Given the description of an element on the screen output the (x, y) to click on. 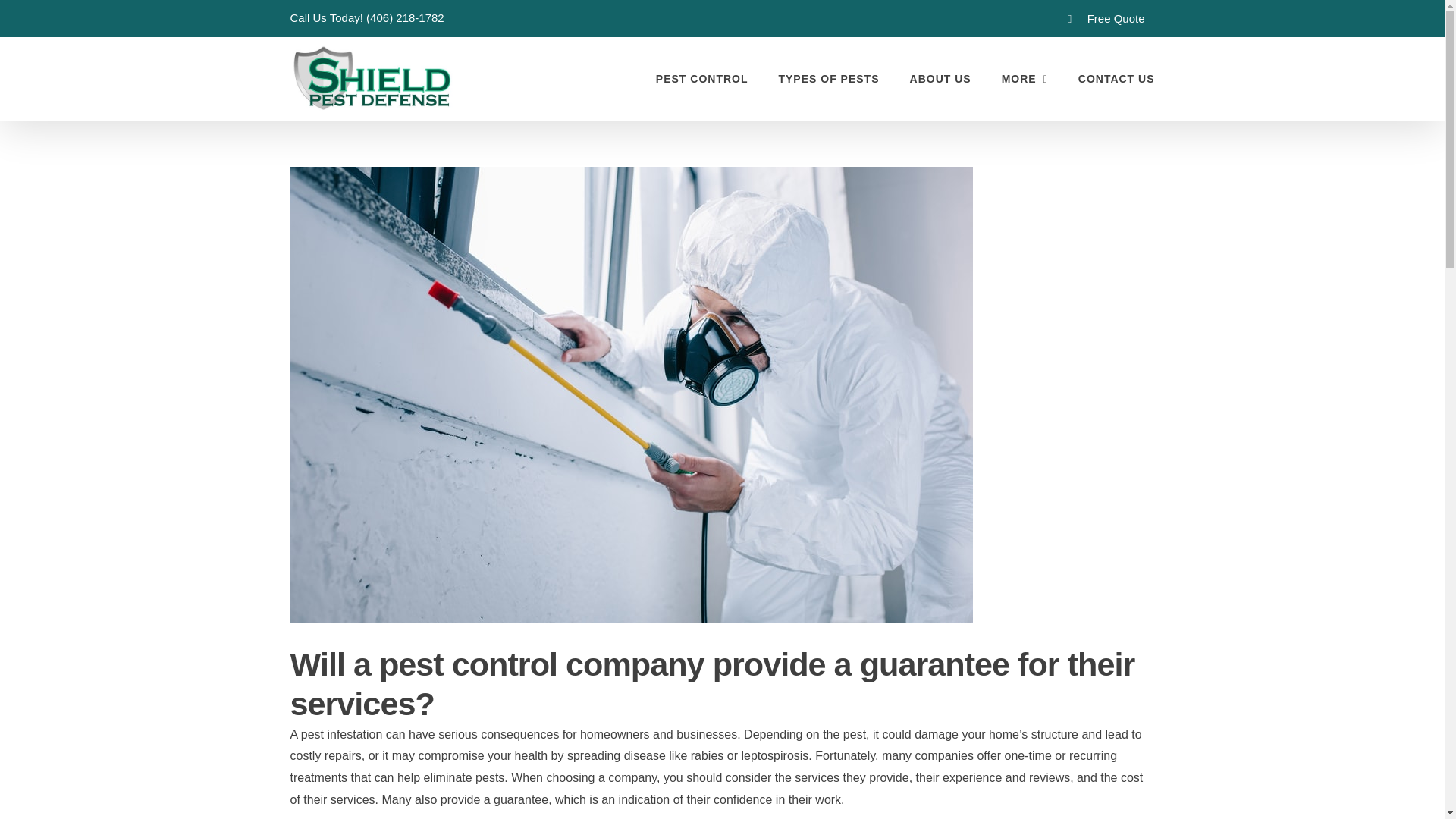
TYPES OF PESTS (828, 78)
Free Quote (1106, 18)
CONTACT US (1116, 78)
PEST CONTROL (702, 78)
